Given the description of an element on the screen output the (x, y) to click on. 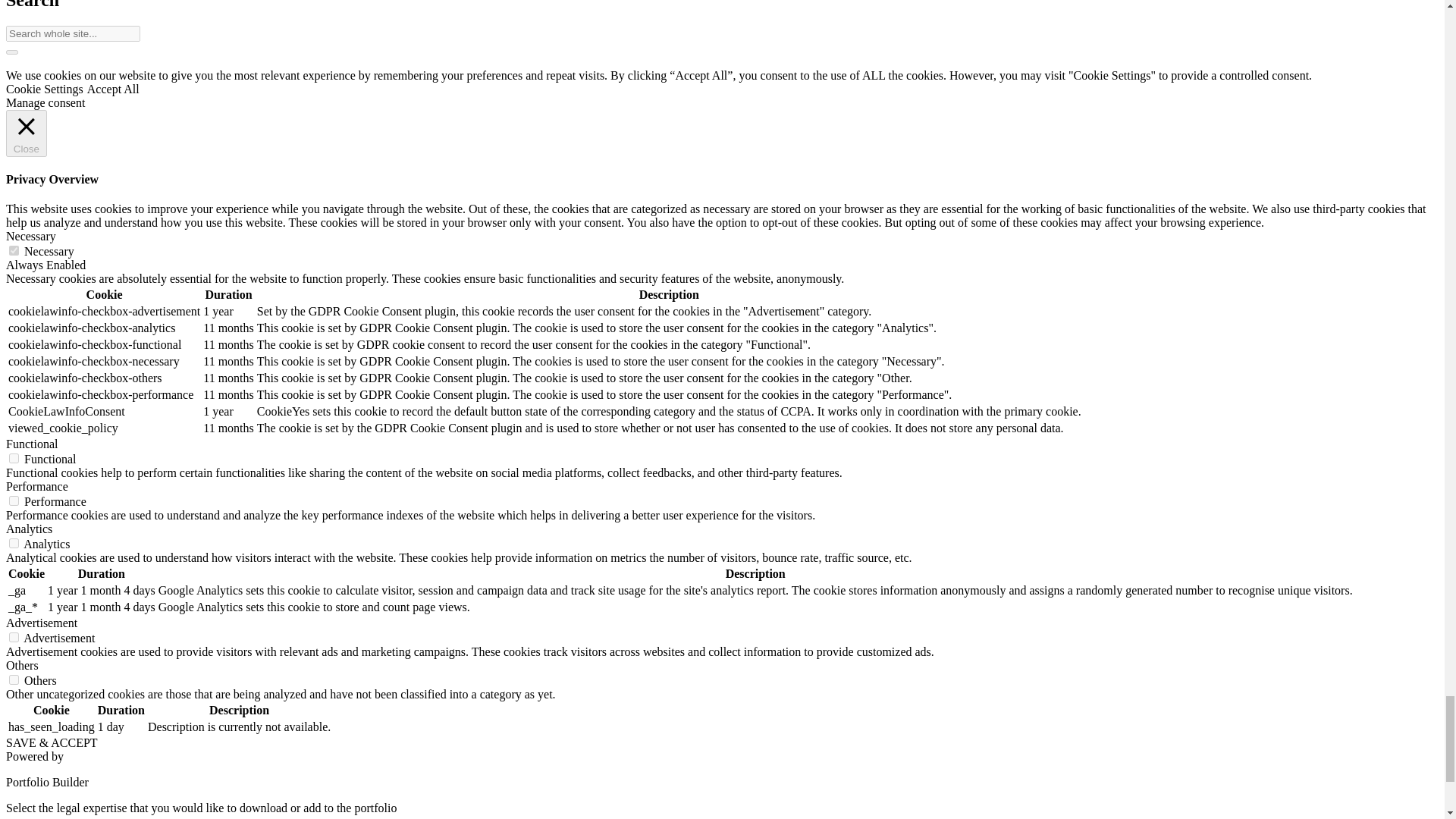
on (13, 542)
on (13, 501)
on (13, 679)
on (13, 637)
on (13, 458)
on (13, 250)
